Given the description of an element on the screen output the (x, y) to click on. 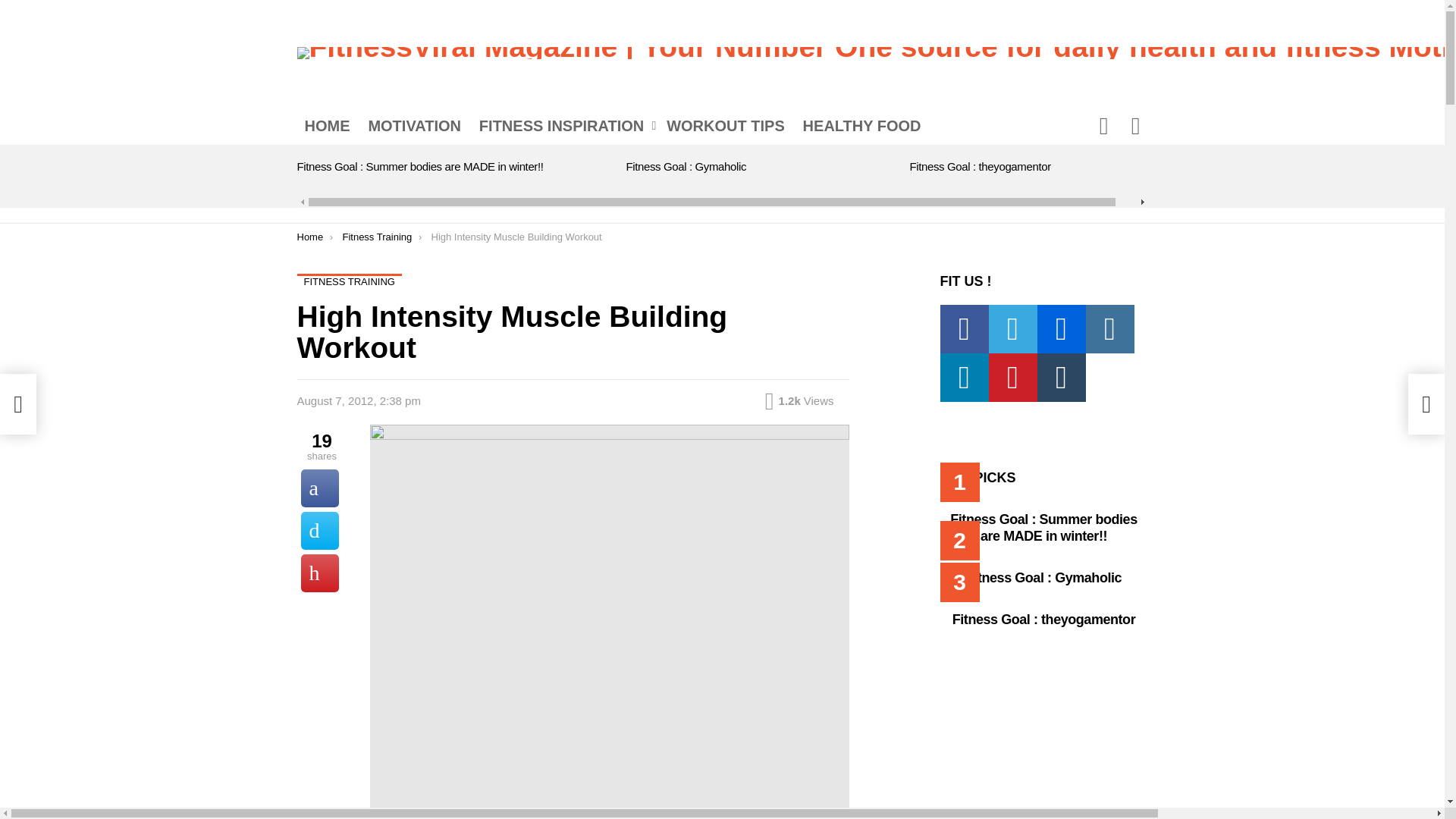
HOME (327, 125)
Share on Pinterest (318, 573)
HEALTHY FOOD (861, 125)
Fitness Goal : theyogamentor (980, 165)
Fitness Goal : Gymaholic (686, 165)
WORKOUT TIPS (725, 125)
MOTIVATION (413, 125)
Fitness Goal : Summer bodies are MADE in winter!! (420, 165)
Share on Tweet (318, 530)
Share on Share (318, 487)
FITNESS INSPIRATION (563, 125)
